Given the description of an element on the screen output the (x, y) to click on. 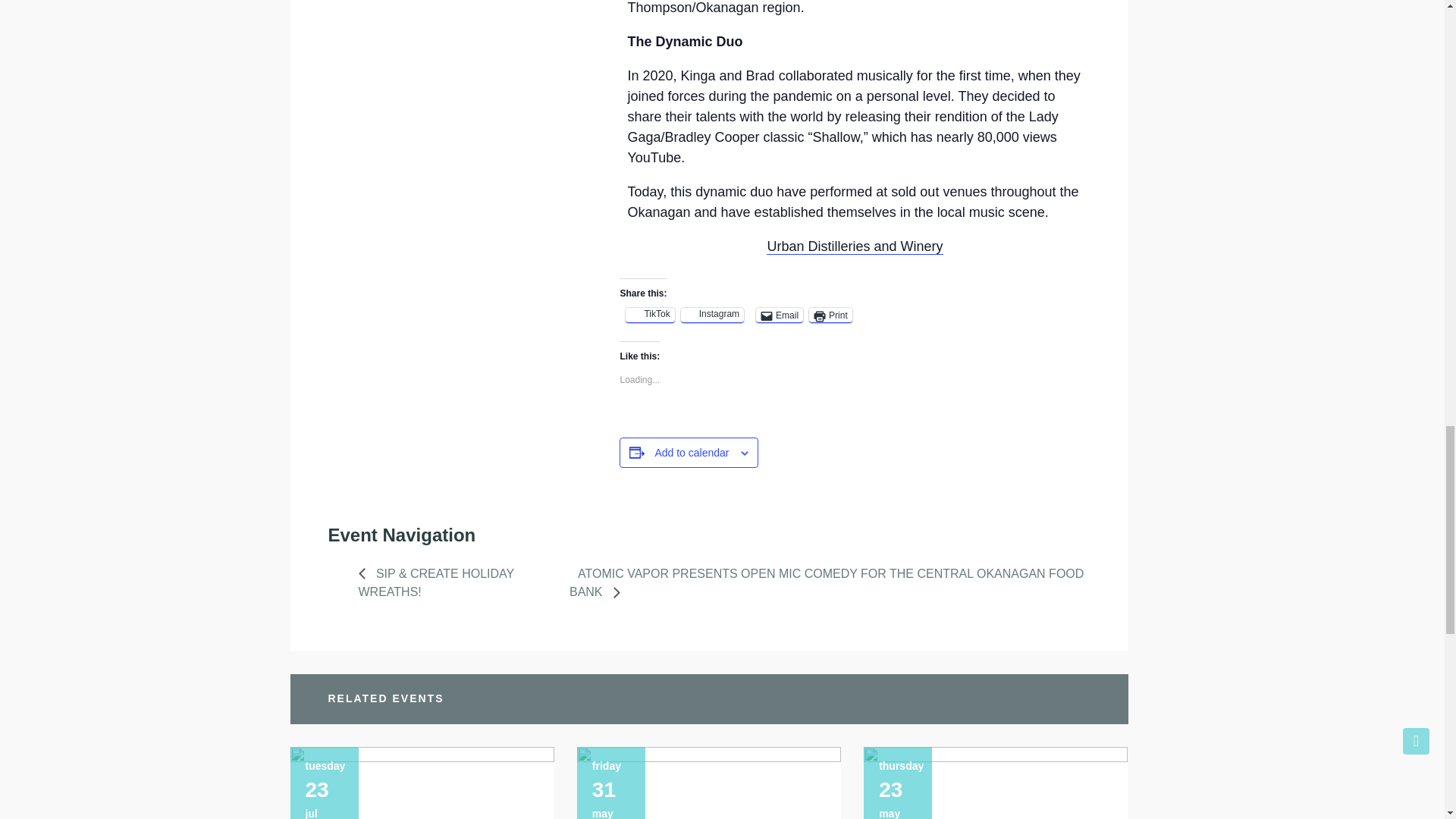
Add to calendar (691, 452)
Instagram (712, 314)
Print (830, 314)
Click to print (830, 314)
Stu Goldberg Jazz Trio in West Kelowna (708, 782)
Click to share on TikTok (650, 314)
Click to share on Instagram (712, 314)
Urban Distilleries and Winery (854, 246)
Okanagan Angel Summit Finale 2024 (994, 782)
TikTok (650, 314)
Click to email a link to a friend (779, 314)
Email (779, 314)
